Given the description of an element on the screen output the (x, y) to click on. 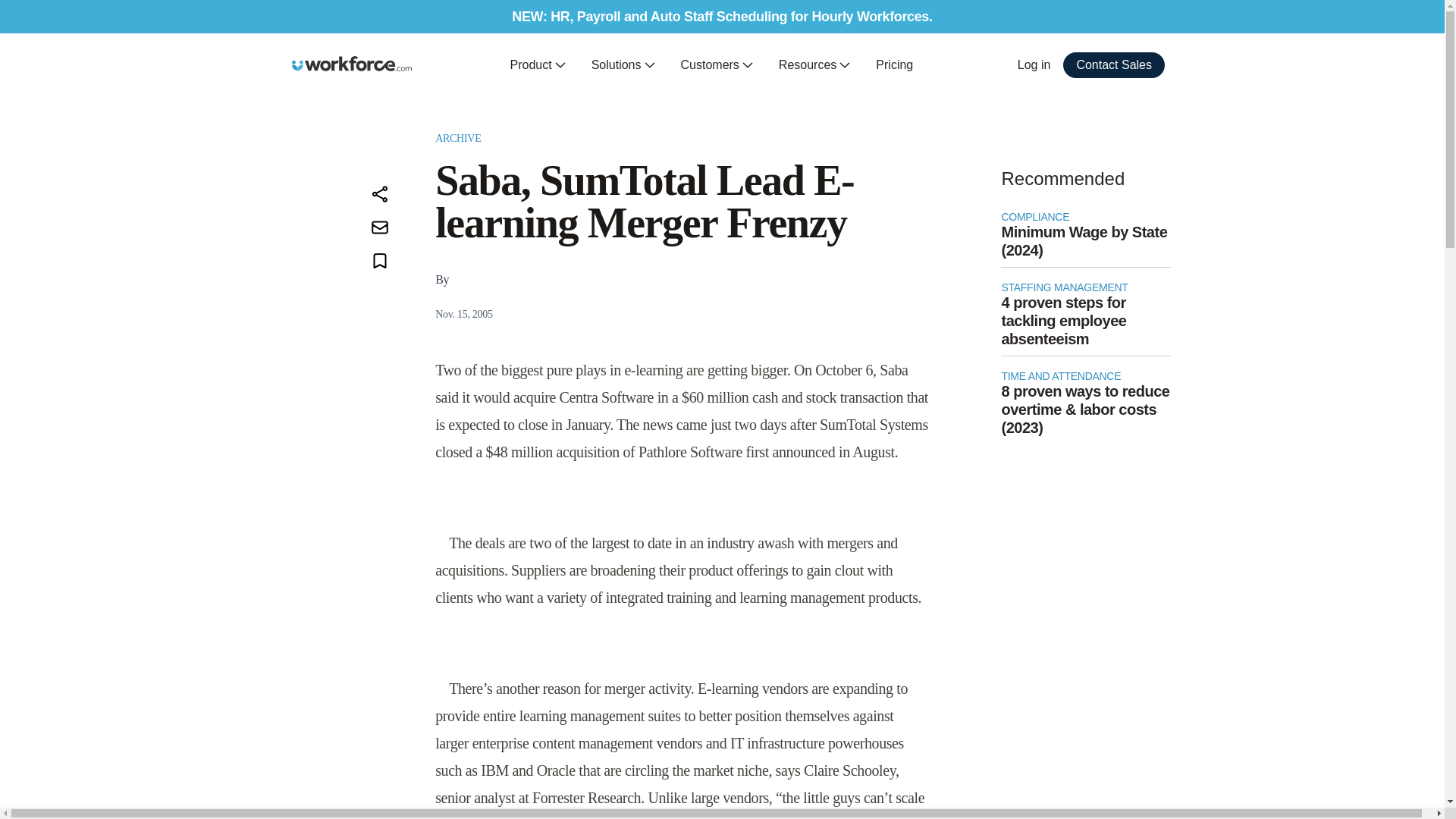
Solutions (623, 65)
Workforce.com (351, 63)
Product (539, 65)
